Given the description of an element on the screen output the (x, y) to click on. 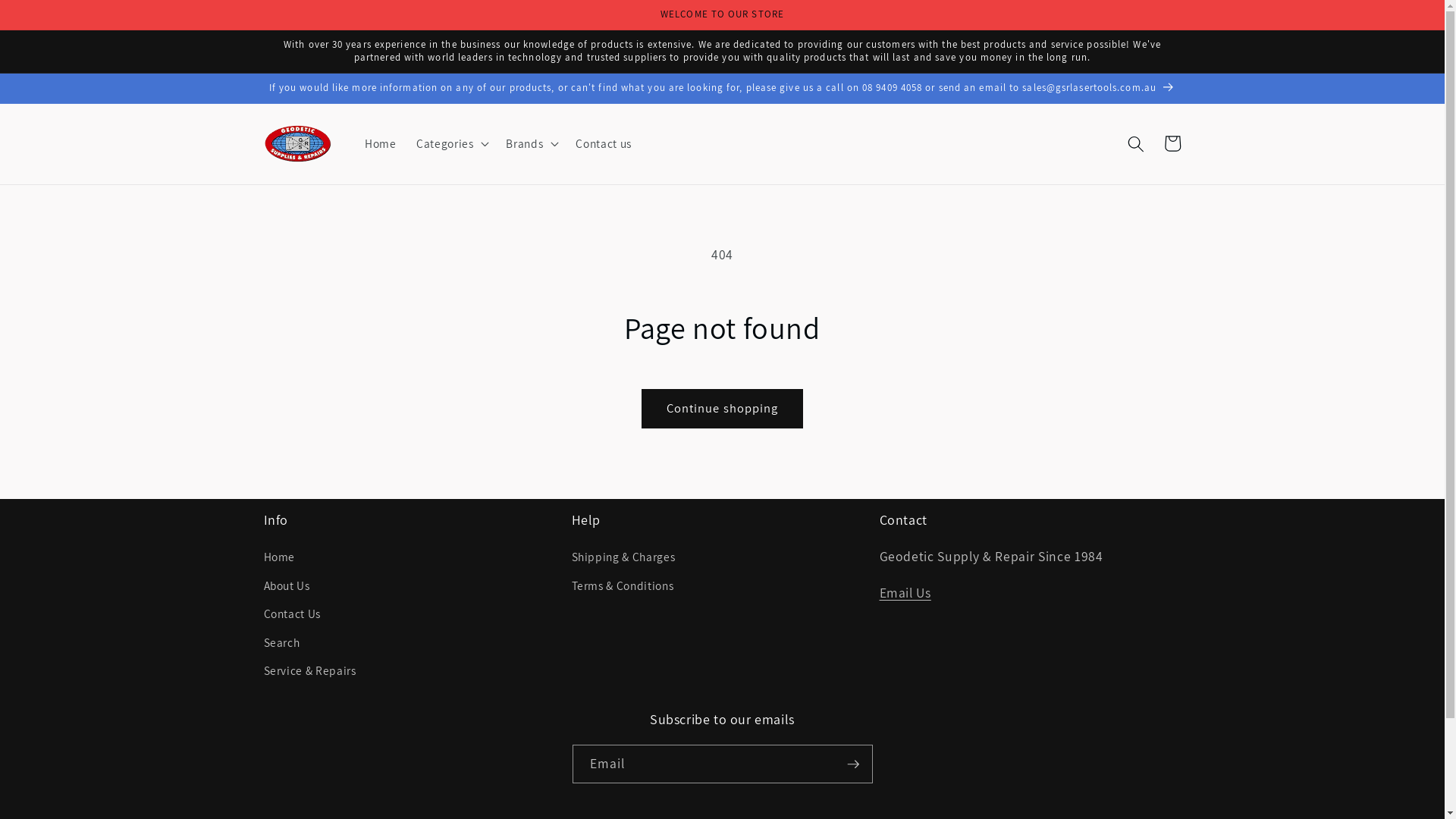
Service & Repairs Element type: text (309, 670)
Contact Us Element type: text (292, 613)
Contact us Element type: text (603, 143)
Home Element type: text (279, 558)
About Us Element type: text (286, 585)
Terms & Conditions Element type: text (622, 585)
Shipping & Charges Element type: text (623, 558)
Continue shopping Element type: text (722, 408)
Email Us Element type: text (905, 592)
Search Element type: text (281, 641)
Cart Element type: text (1172, 143)
Home Element type: text (380, 143)
